Given the description of an element on the screen output the (x, y) to click on. 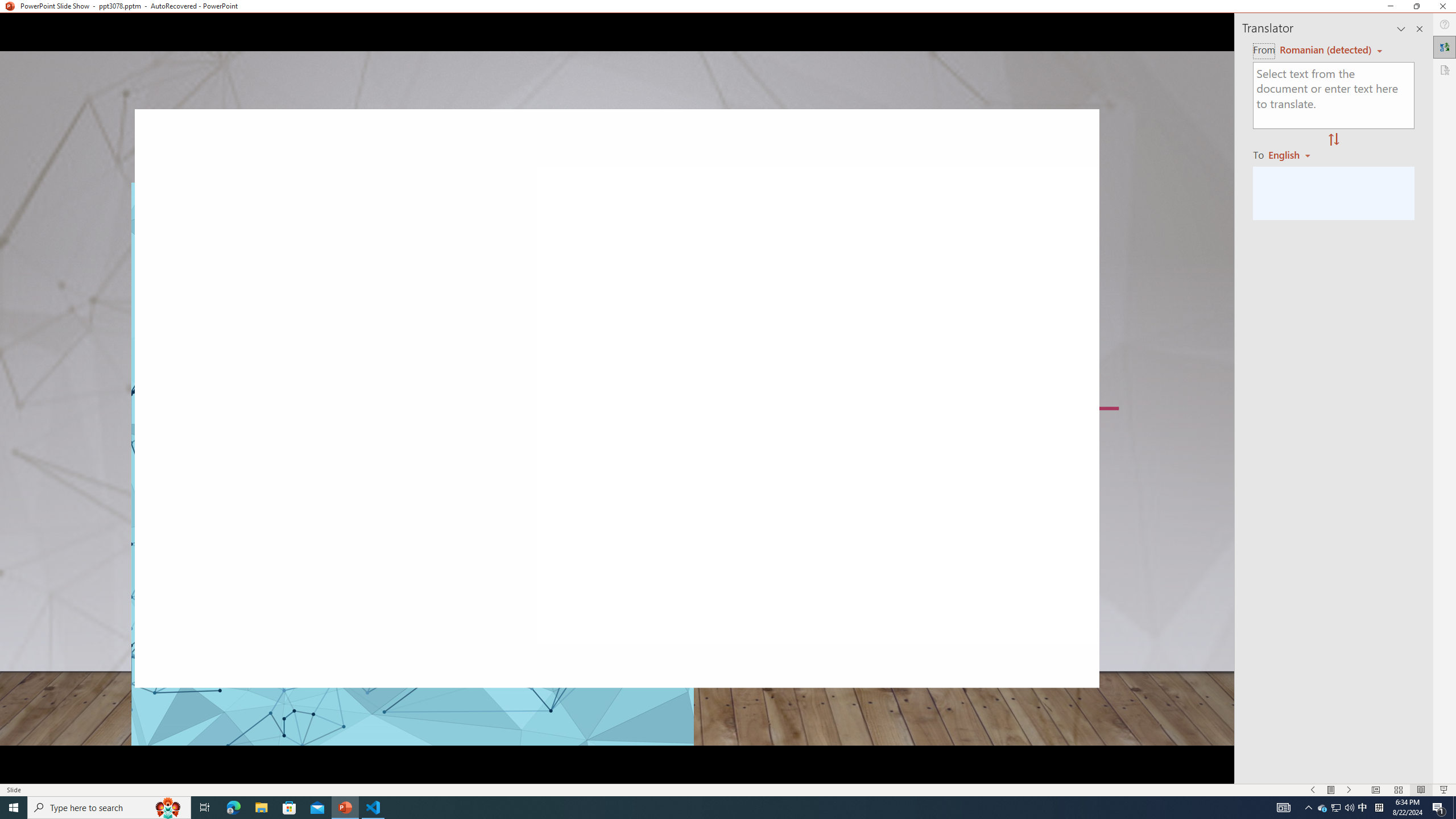
Slide Show Previous On (1313, 790)
Slide Show Next On (1349, 790)
Romanian (1293, 154)
Menu On (1331, 790)
Czech (detected) (1323, 50)
